Given the description of an element on the screen output the (x, y) to click on. 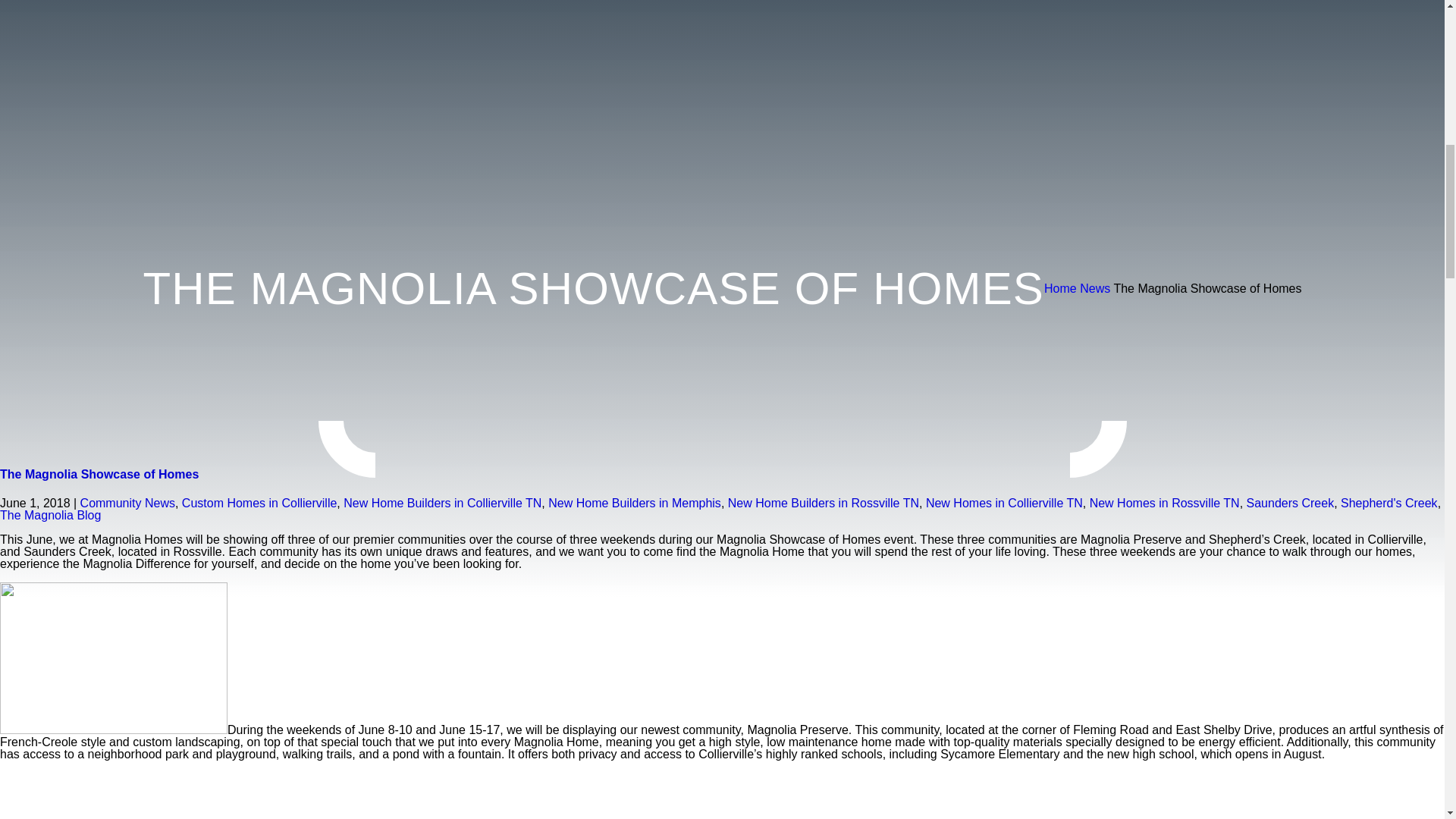
New Home Builders in Memphis (634, 502)
The Magnolia Blog (50, 514)
Shepherd's Creek (1389, 502)
Home (1060, 287)
Saunders Creek (1290, 502)
The Magnolia Showcase of Homes (99, 473)
News (1094, 287)
Custom Homes in Collierville (259, 502)
New Home Builders in Collierville TN (442, 502)
Community News (127, 502)
New Homes in Collierville TN (1004, 502)
New Homes in Rossville TN (1164, 502)
New Home Builders in Rossville TN (823, 502)
